Given the description of an element on the screen output the (x, y) to click on. 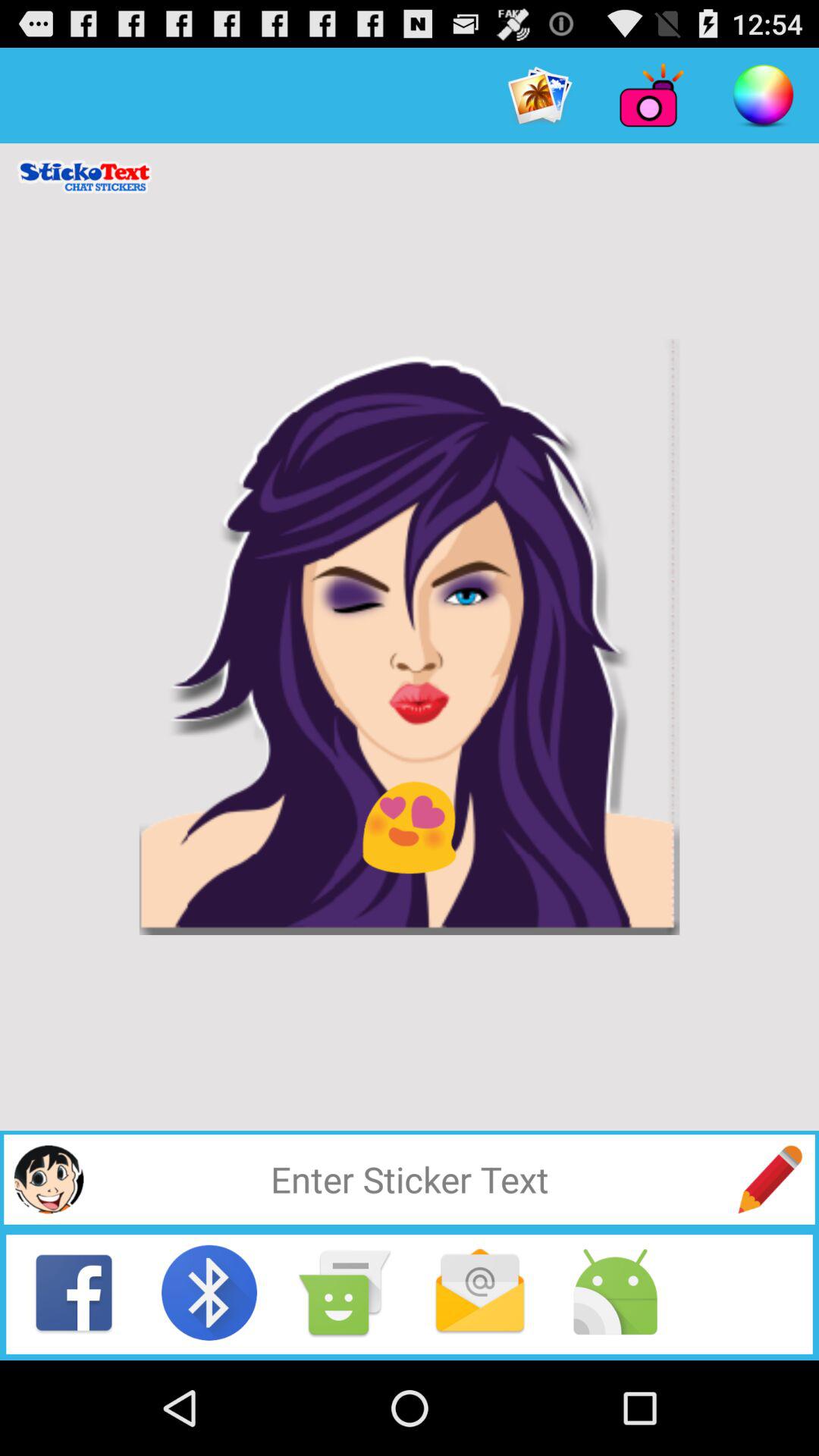
share on facebook (73, 1292)
